Given the description of an element on the screen output the (x, y) to click on. 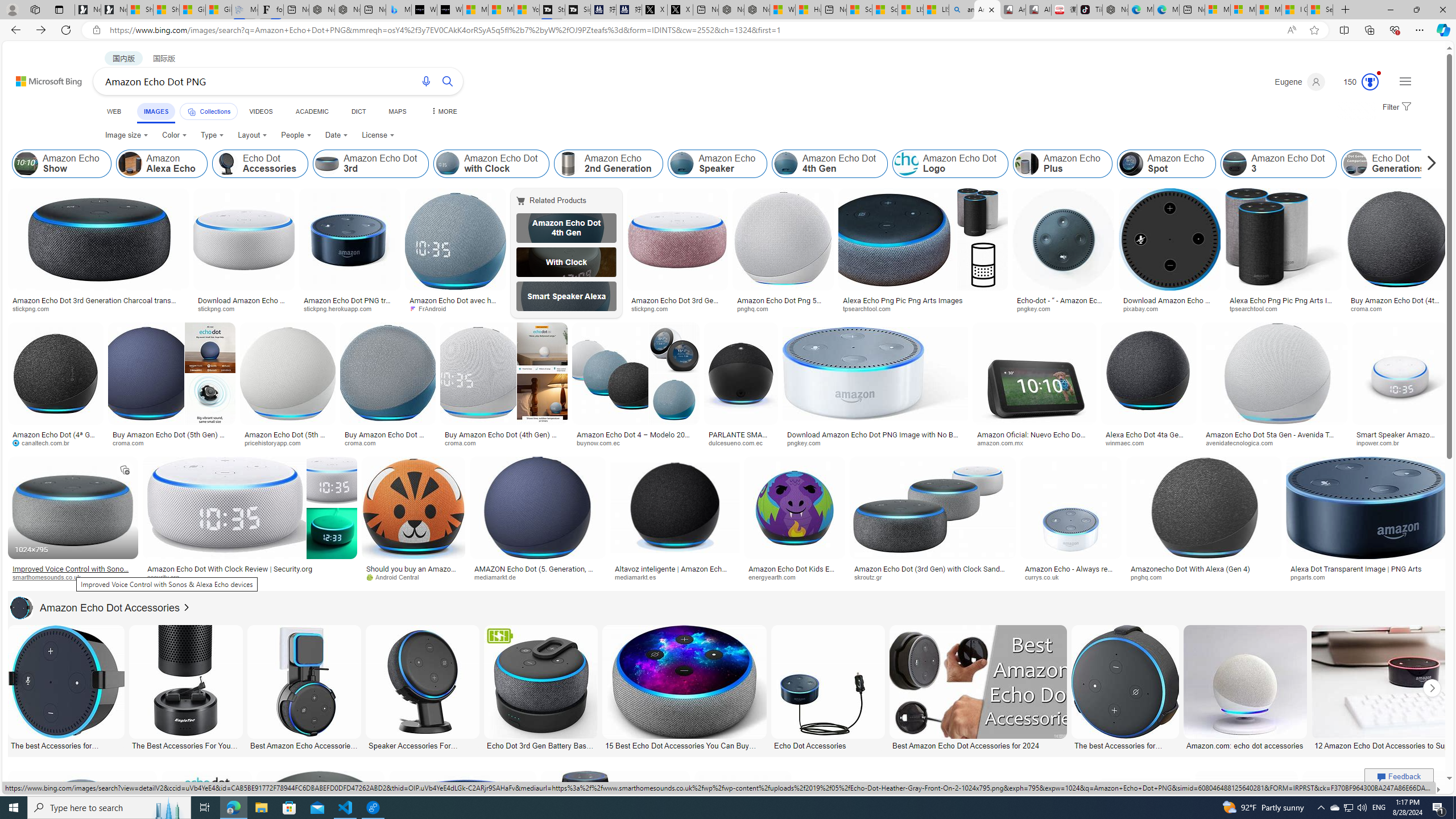
Search button (447, 80)
TikTok (1089, 9)
Amazon Alexa Echo (129, 163)
pngkey.com (875, 442)
Microsoft account | Privacy (1242, 9)
Microsoft Rewards 147 (1356, 81)
